Given the description of an element on the screen output the (x, y) to click on. 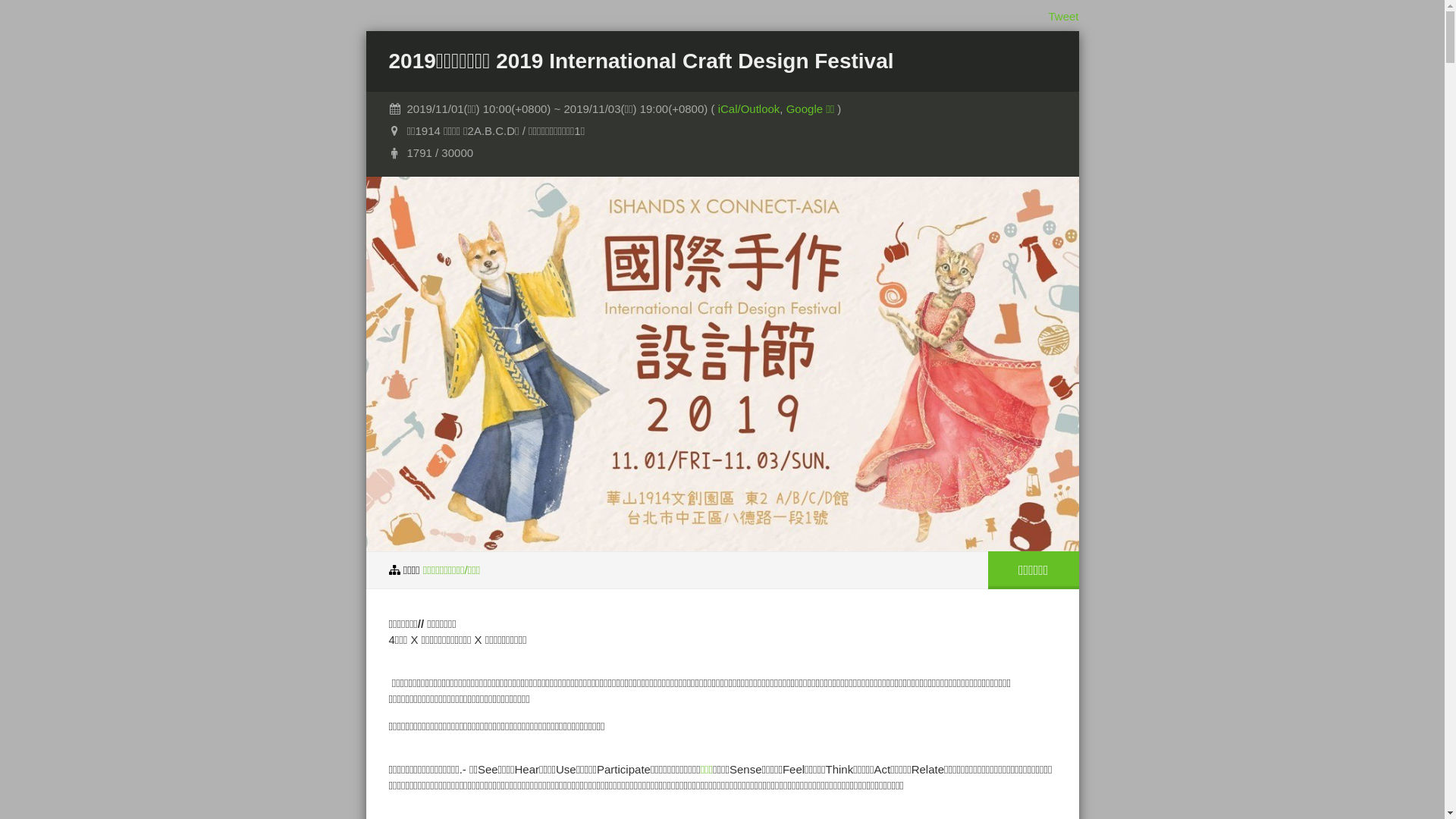
Tweet Element type: text (1063, 15)
iCal/Outlook Element type: text (749, 108)
